Given the description of an element on the screen output the (x, y) to click on. 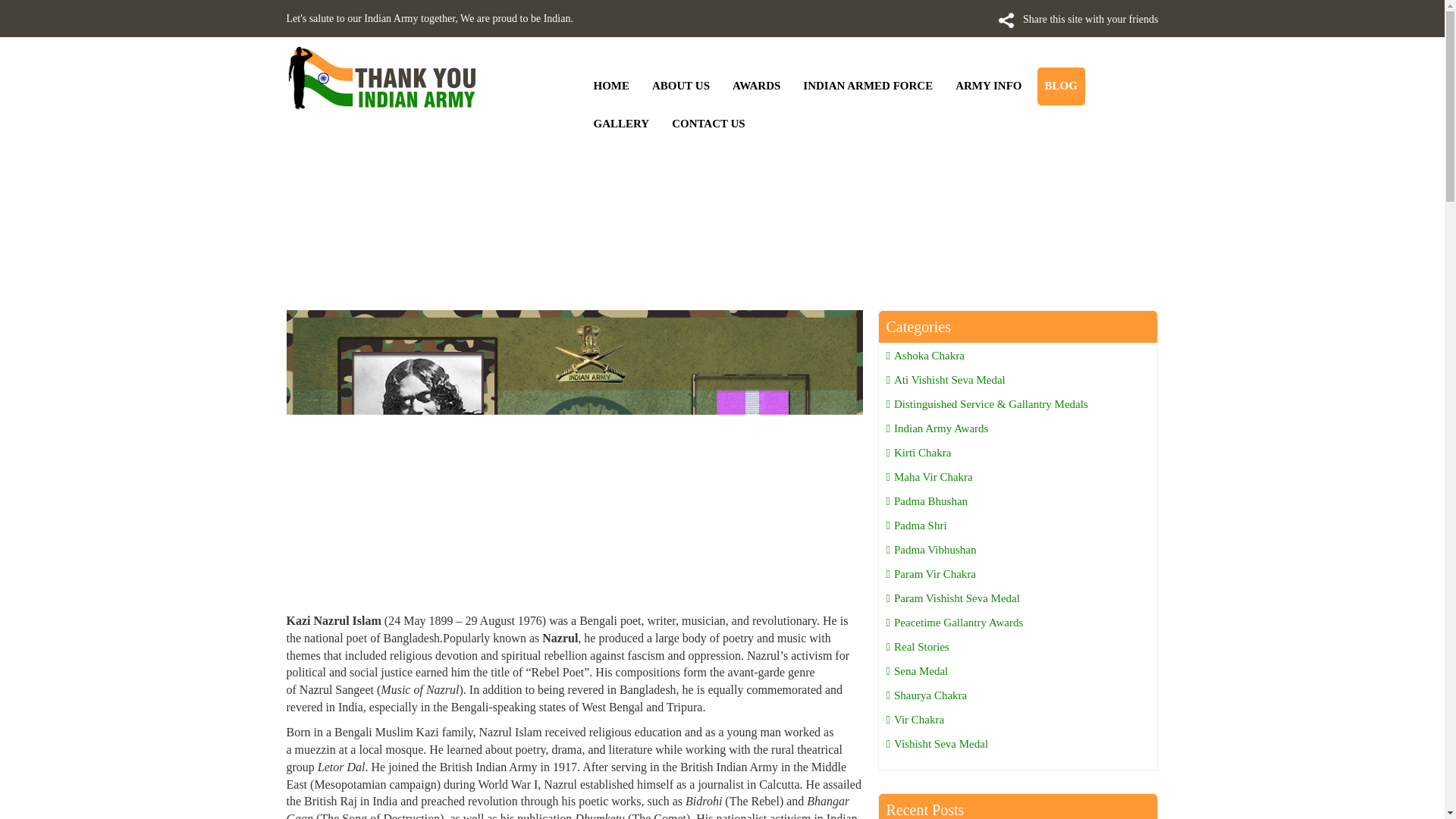
BLOG (1060, 86)
Ati Vishisht Seva Medal (944, 379)
HOME (611, 86)
CONTACT US (707, 123)
Padma Shri (915, 525)
Indian Army Awards (936, 428)
Maha Vir Chakra (928, 476)
ABOUT US (681, 86)
Padma Bhushan (926, 500)
ARMY INFO (988, 86)
